Given the description of an element on the screen output the (x, y) to click on. 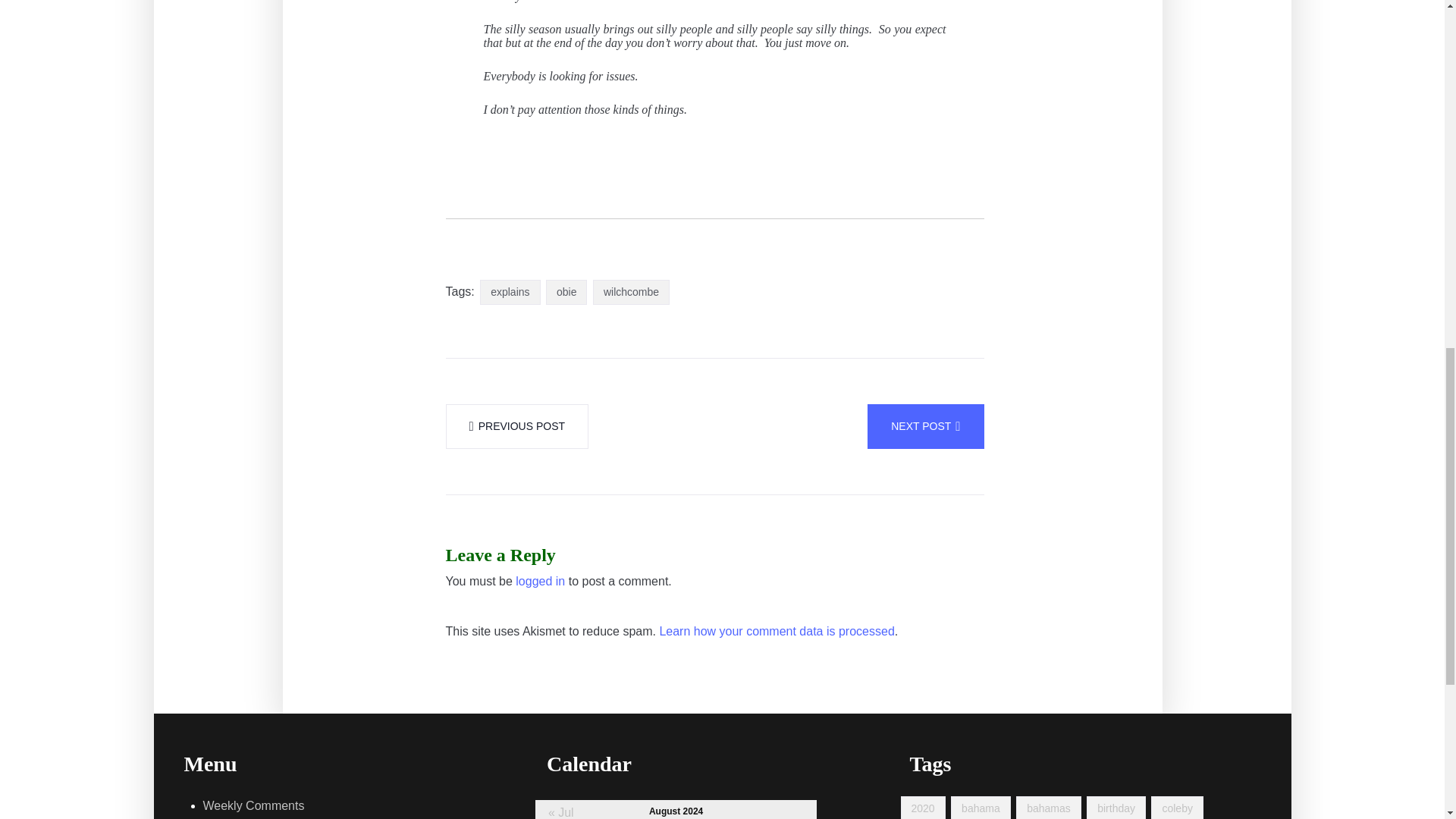
bahama (980, 807)
logged in (539, 581)
Learn how your comment data is processed (776, 631)
News (217, 817)
birthday (1115, 807)
Weekly Comments (253, 805)
explains (510, 292)
PREVIOUS POST (517, 426)
2020 (922, 807)
wilchcombe (630, 292)
